Given the description of an element on the screen output the (x, y) to click on. 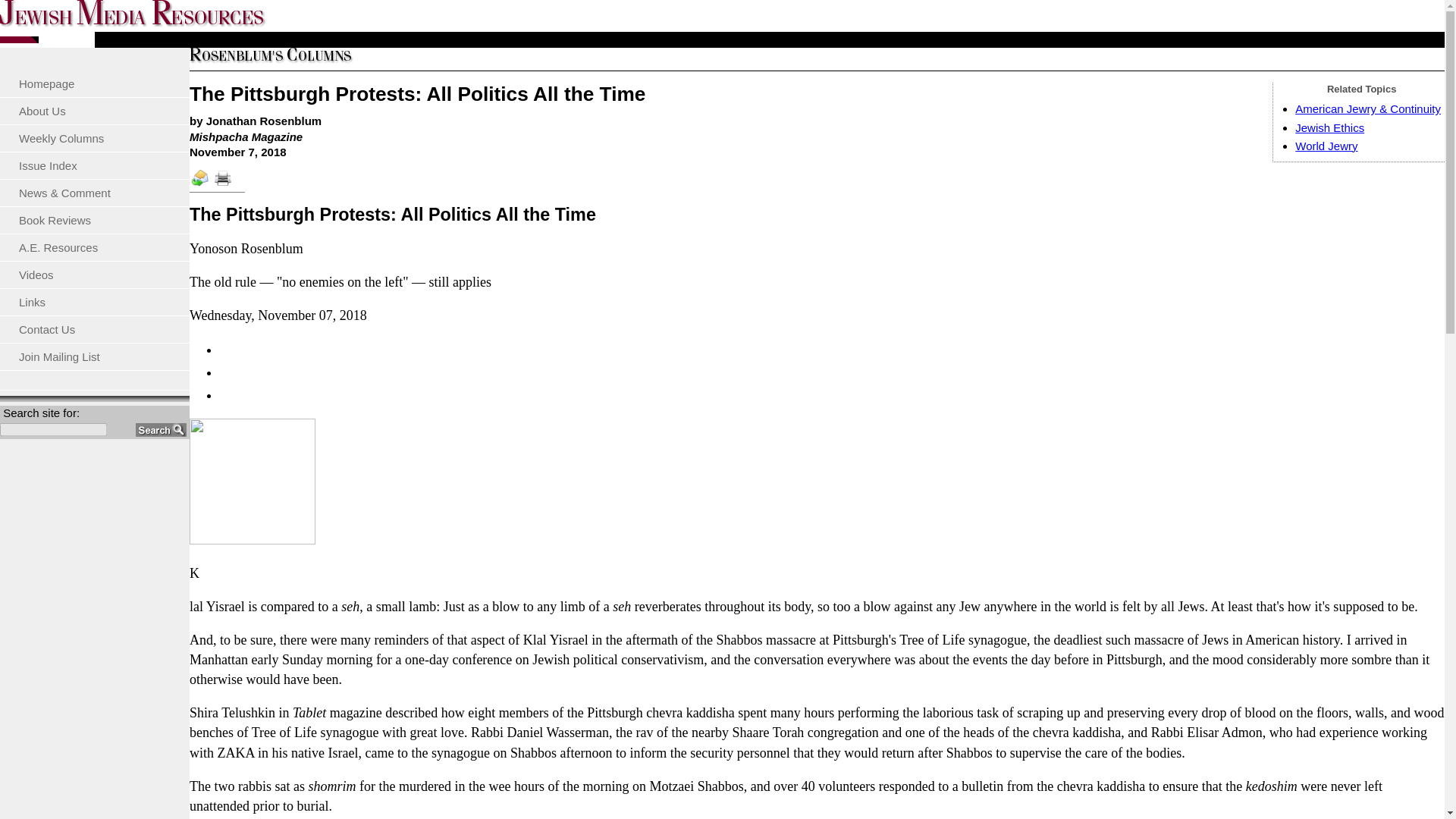
Book Reviews (94, 220)
Join Mailing List (94, 356)
Jewish Ethics (1329, 127)
Search (160, 429)
Homepage (94, 83)
Videos (94, 274)
Contact Us (94, 329)
Print (228, 183)
Weekly Columns (94, 138)
Issue Index (94, 165)
